Given the description of an element on the screen output the (x, y) to click on. 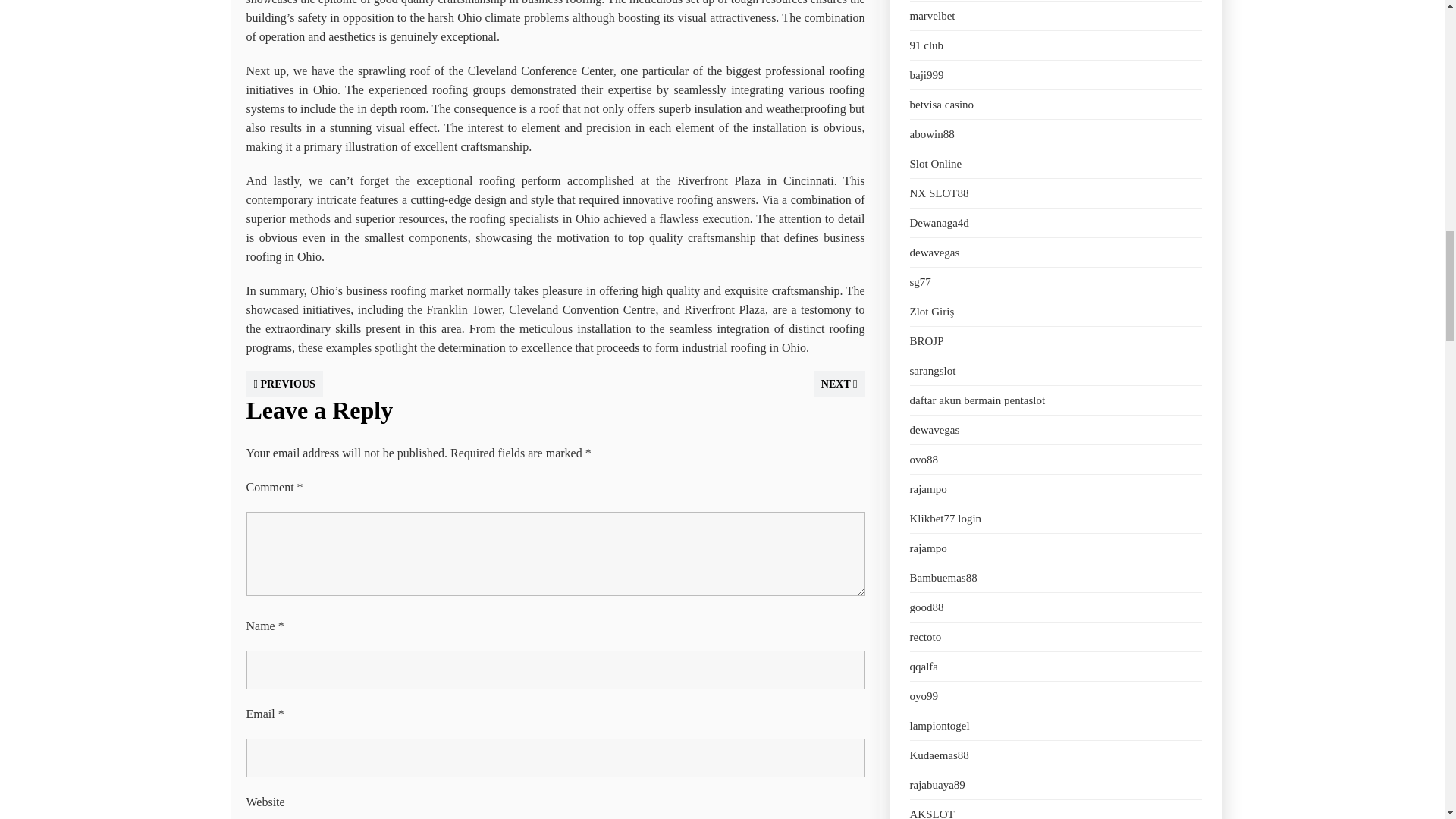
NEXT (838, 383)
PREVIOUS (283, 383)
